Given the description of an element on the screen output the (x, y) to click on. 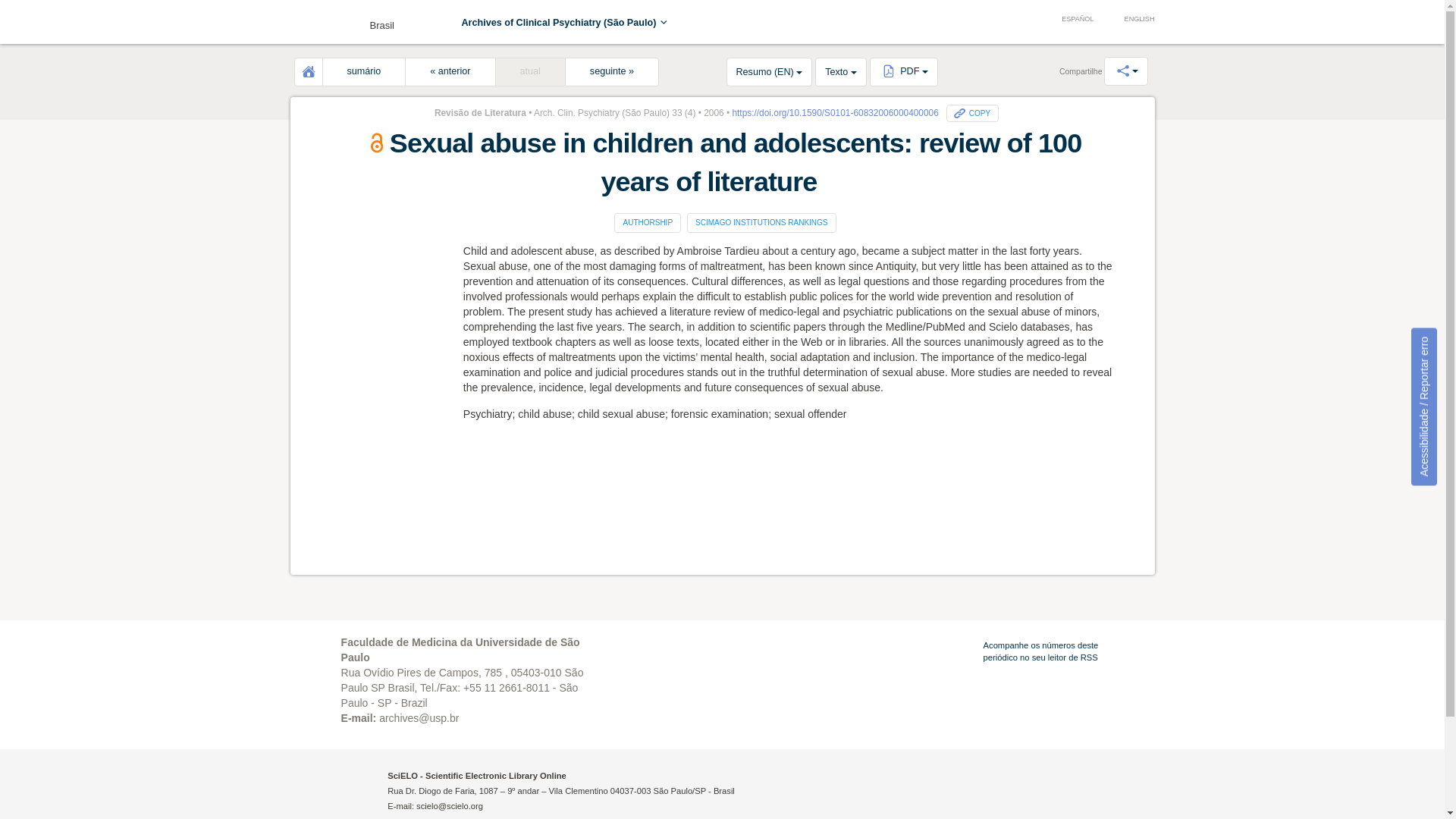
Abrir menu (312, 23)
Brasil (346, 21)
Abrir menu (312, 23)
ENGLISH (1131, 19)
